Given the description of an element on the screen output the (x, y) to click on. 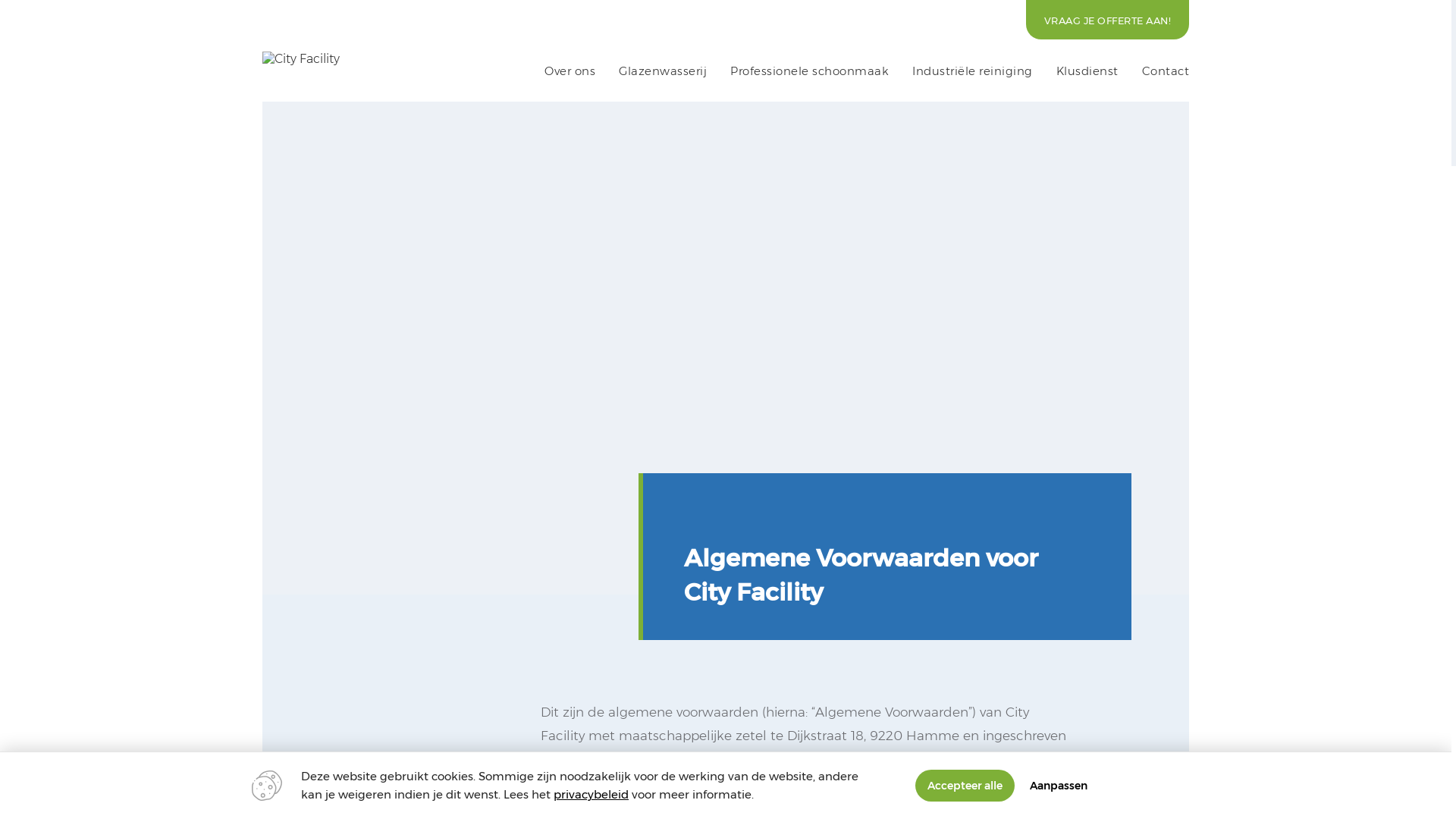
Aanpassen Element type: text (1058, 785)
Glazenwasserij Element type: text (662, 70)
Accepteer alle Element type: text (964, 785)
Klusdienst Element type: text (1087, 70)
VRAAG JE OFFERTE AAN! Element type: text (1107, 19)
Professionele schoonmaak Element type: text (809, 70)
privacybeleid Element type: text (590, 794)
City Facility Element type: hover (306, 58)
Over ons Element type: text (569, 70)
Contact Element type: text (1165, 70)
